Given the description of an element on the screen output the (x, y) to click on. 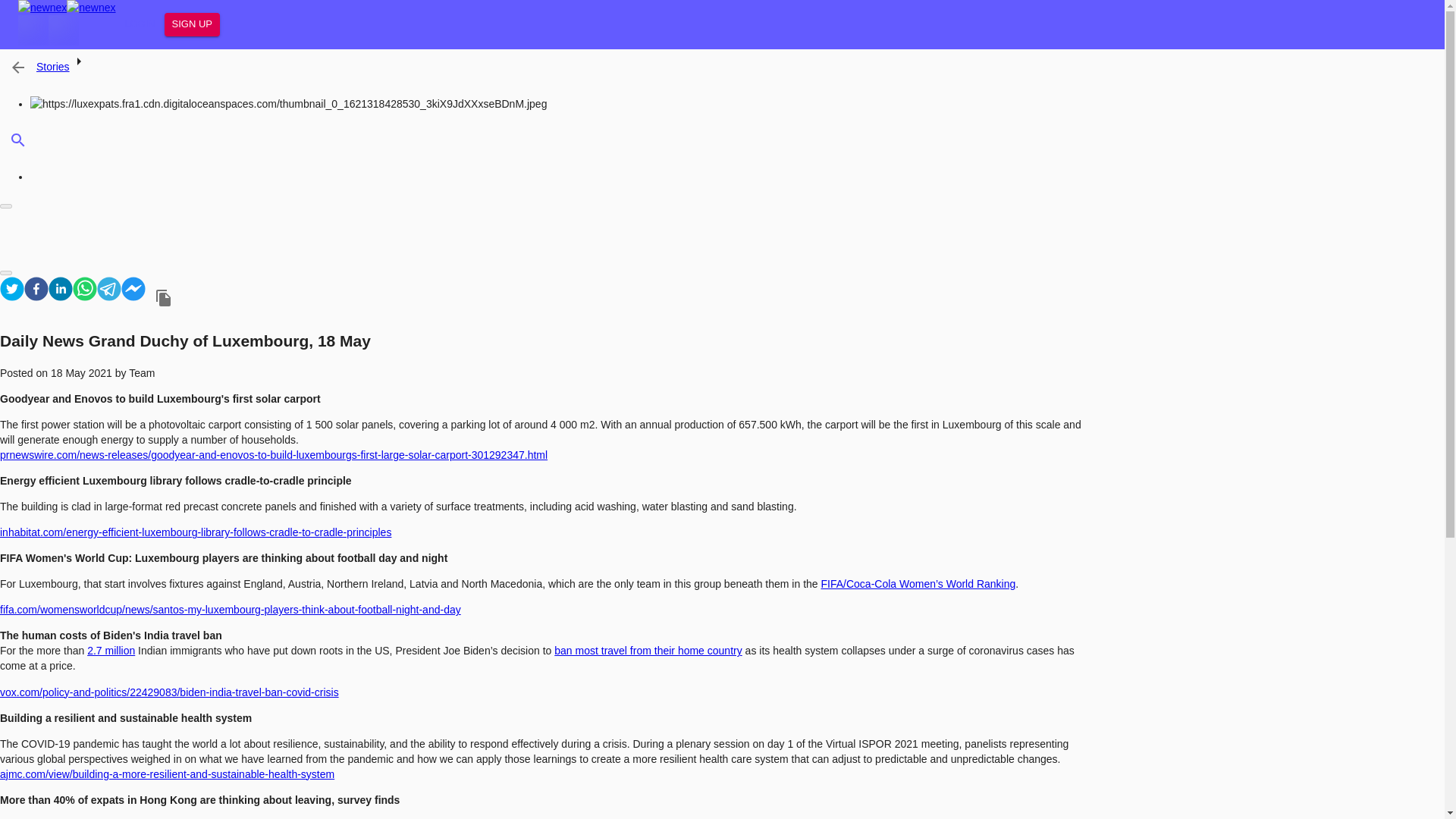
Download Luxembourg Expats App on the Apple App Store (32, 30)
SIGN UP (191, 24)
2.7 million (111, 650)
ban most travel from their home country (647, 650)
2.7 million (111, 650)
Download Luxembourg Expats App on the Google Play Store (63, 30)
ban most travel from their home country (647, 650)
Stories (52, 66)
LOGIN (140, 24)
